Given the description of an element on the screen output the (x, y) to click on. 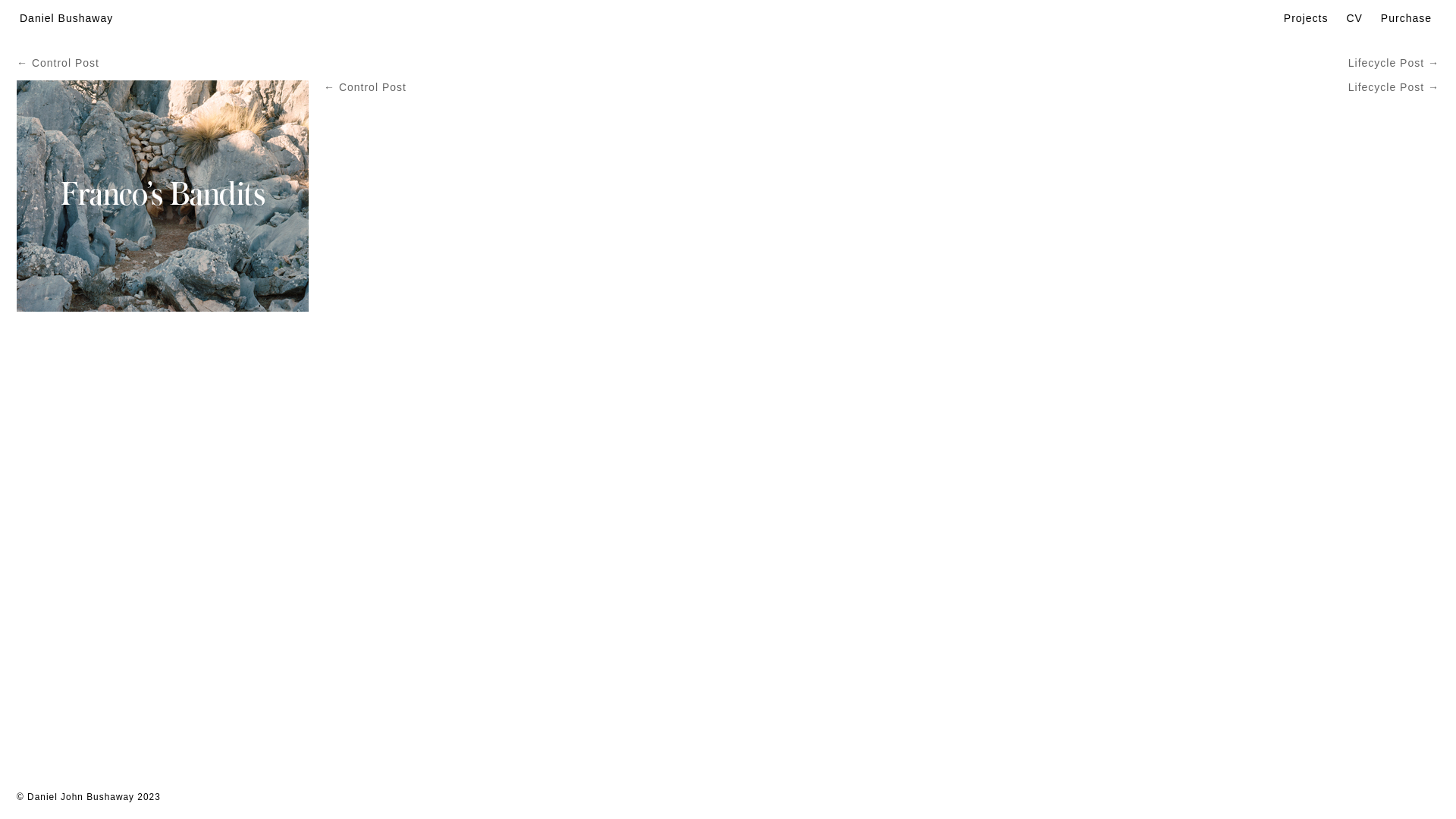
Purchase Element type: text (1405, 17)
CV Element type: text (1354, 17)
Projects Element type: text (1305, 17)
Daniel Bushaway Element type: text (66, 17)
